Given the description of an element on the screen output the (x, y) to click on. 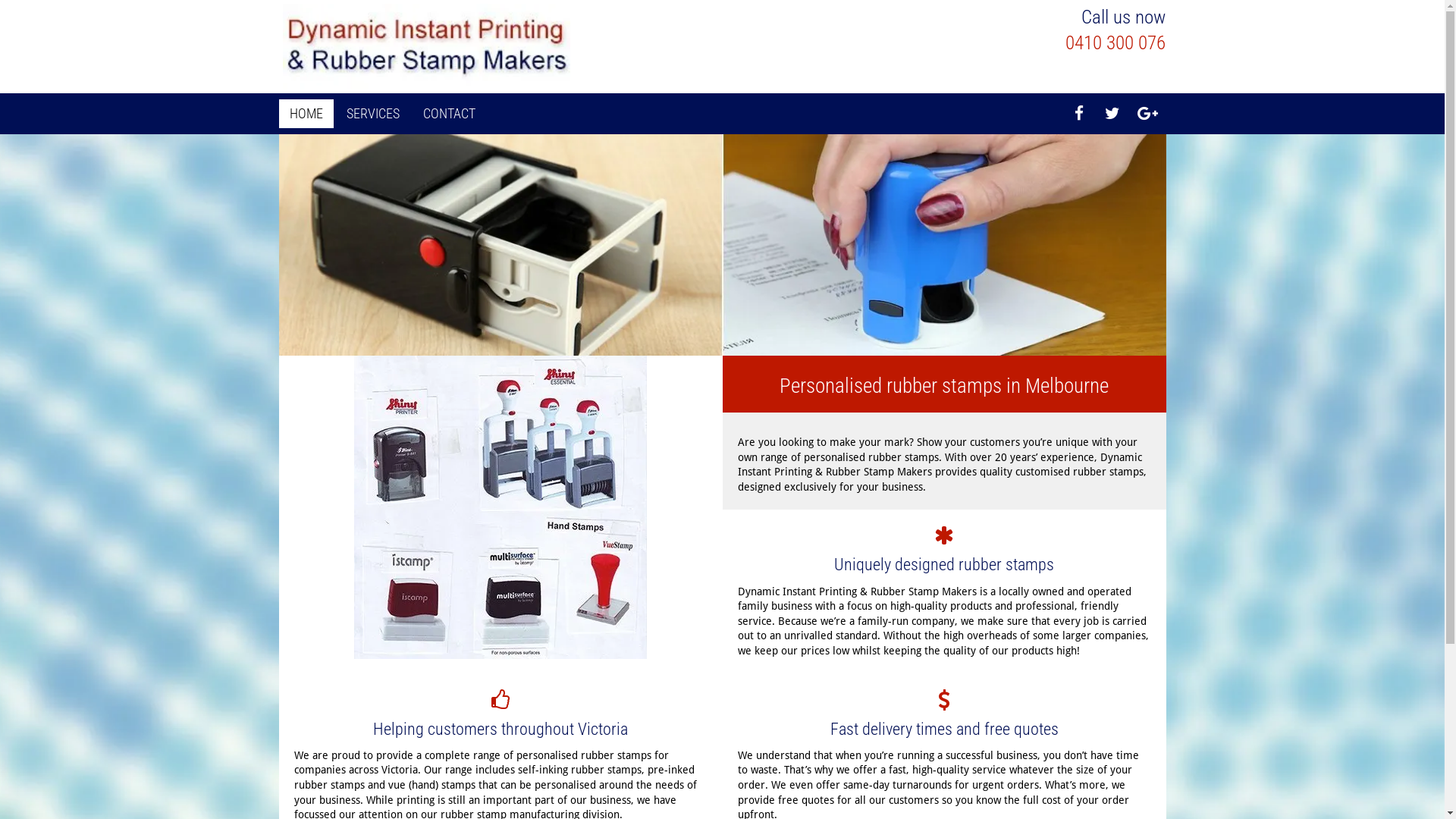
CONTACT Element type: text (449, 113)
0410 300 076 Element type: text (1115, 42)
dynamic instant printing and rubber stamp makers stamps Element type: hover (500, 506)
dynamic instant printing and rubber stamp makers logo Element type: hover (426, 46)
SERVICES Element type: text (371, 113)
HOME Element type: text (306, 113)
